Given the description of an element on the screen output the (x, y) to click on. 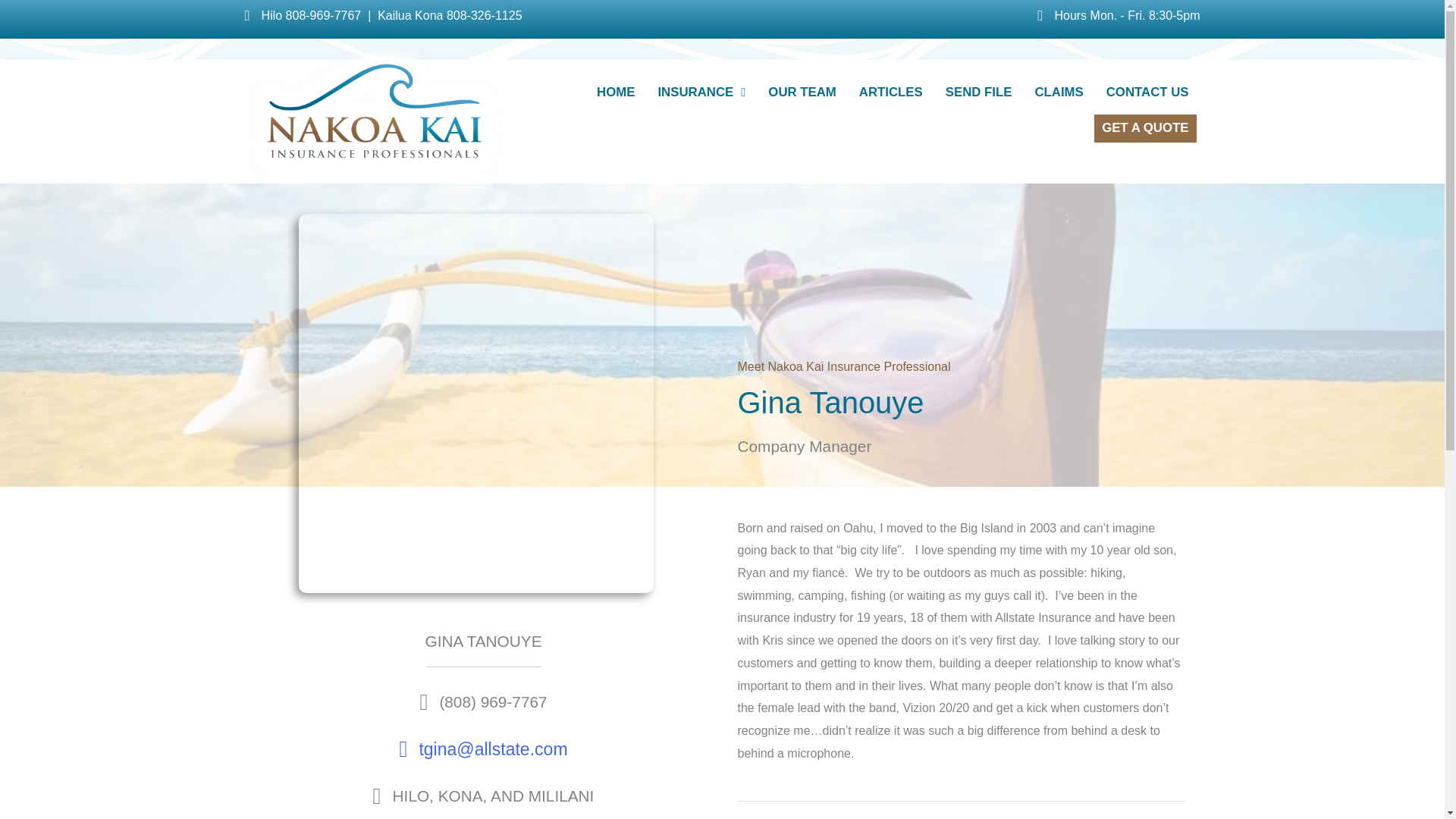
GET A QUOTE (1144, 128)
ARTICLES (890, 92)
808-969-7767 (323, 15)
808-326-1125 (484, 15)
OUR TEAM (802, 92)
SEND FILE (978, 92)
CLAIMS (1058, 92)
Nakoa Kai logo (373, 109)
INSURANCE (700, 92)
CONTACT US (1147, 92)
HOME (615, 92)
